Given the description of an element on the screen output the (x, y) to click on. 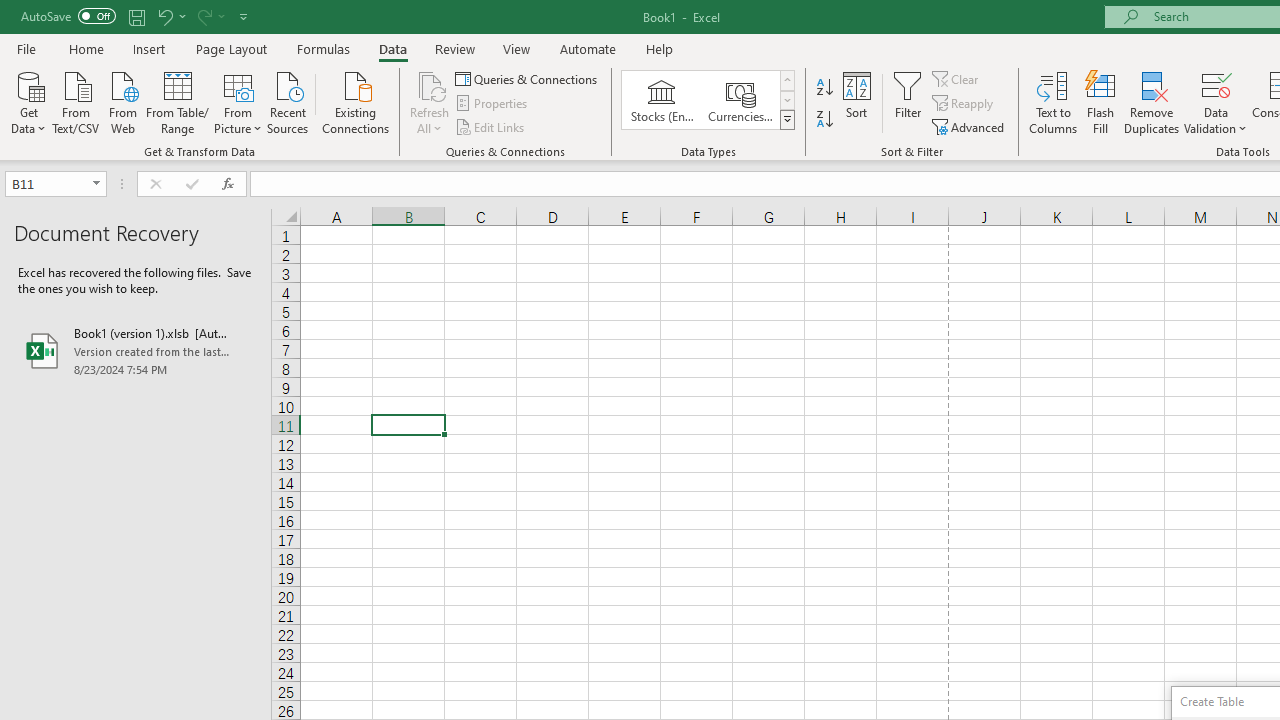
Remove Duplicates (1151, 102)
From Web (122, 101)
Currencies (English) (740, 100)
Stocks (English) (662, 100)
